Given the description of an element on the screen output the (x, y) to click on. 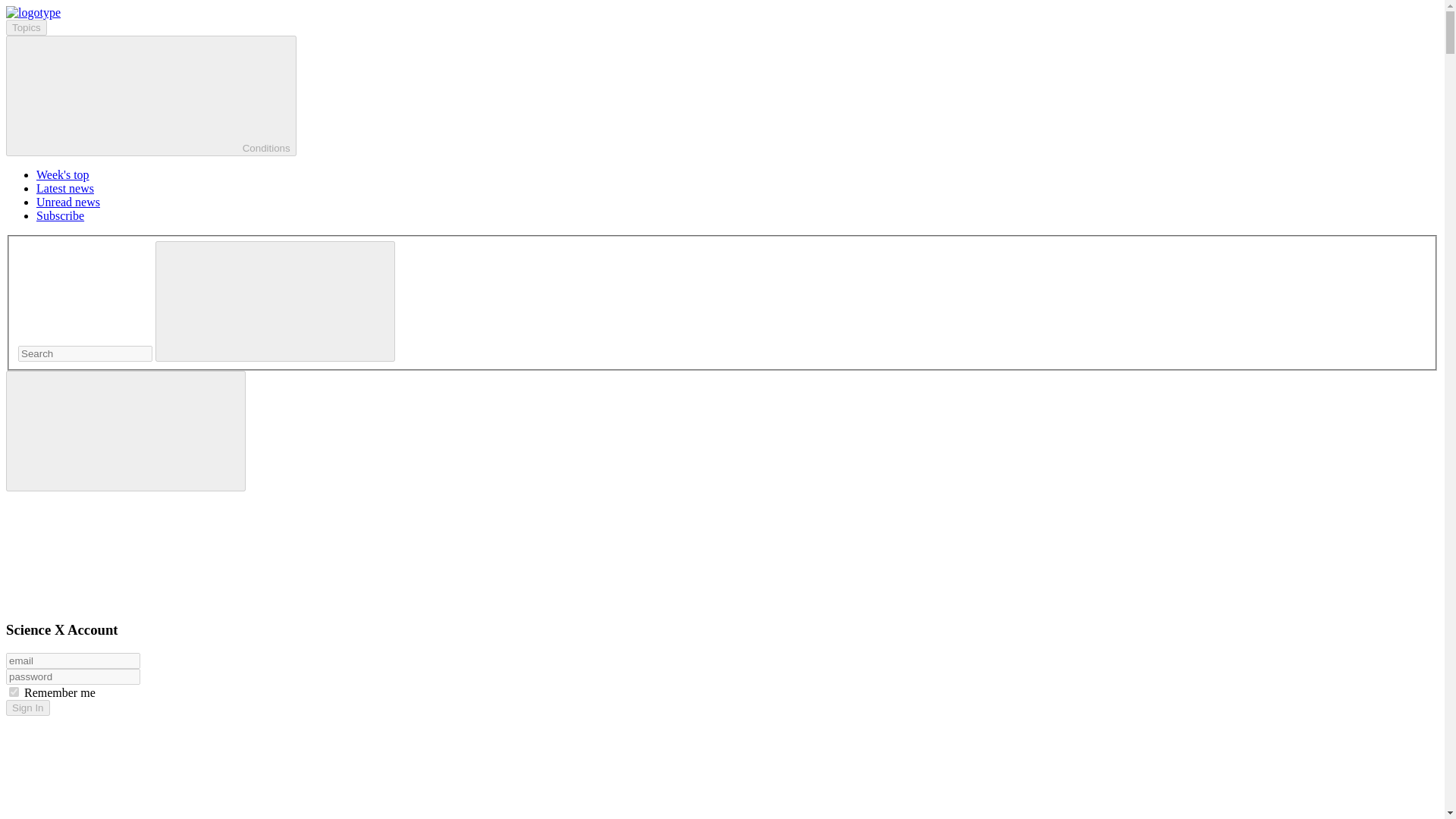
Subscribe (60, 215)
Week's top (62, 174)
Conditions (151, 96)
Latest news (65, 187)
on (13, 691)
Unread news (68, 201)
Sign In (27, 707)
Topics (25, 27)
